Given the description of an element on the screen output the (x, y) to click on. 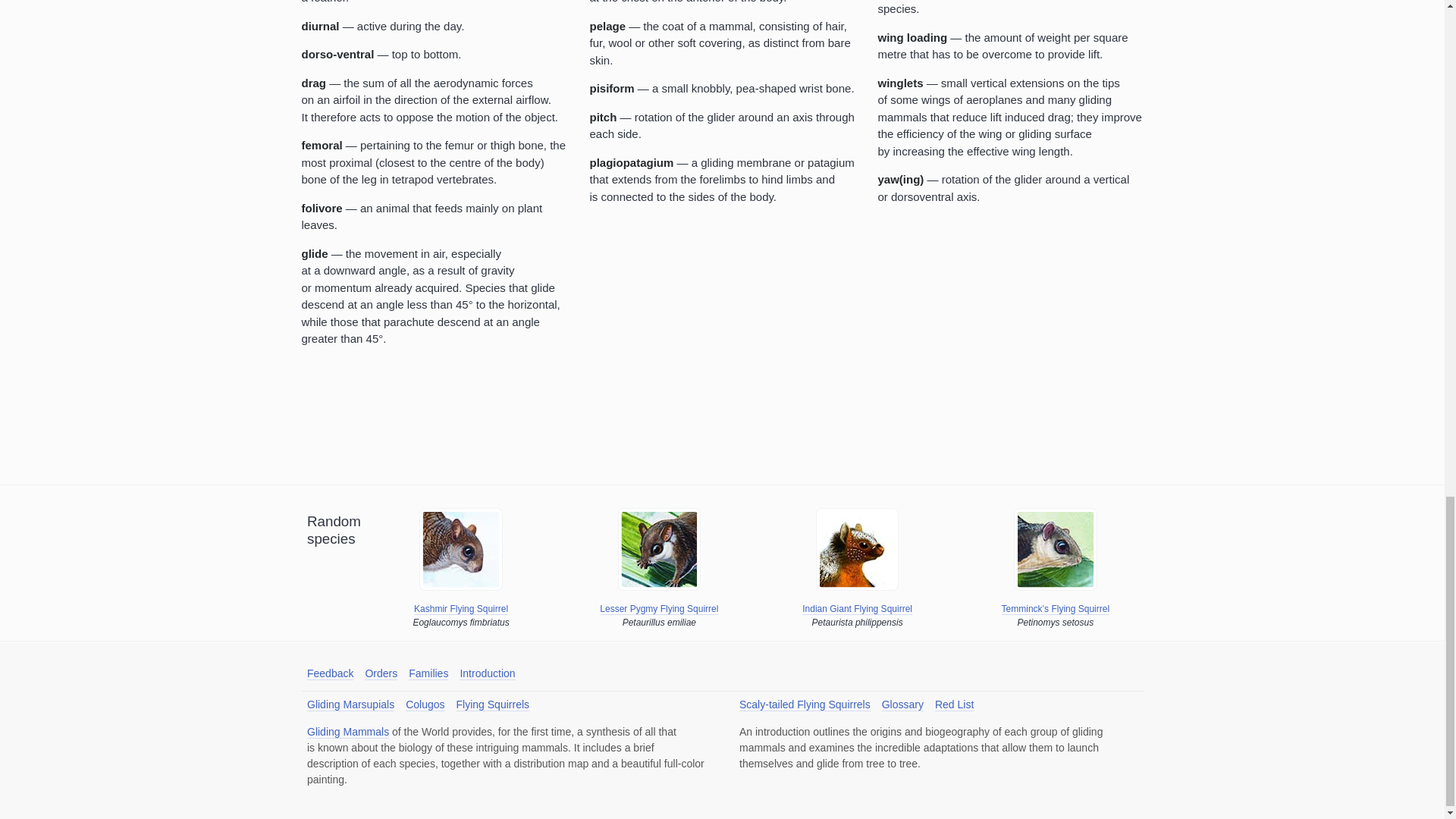
Introduction (487, 673)
Glossary (902, 704)
Flying Squirrels (493, 704)
Feedback (330, 673)
Red List (954, 704)
Orders (381, 673)
Gliding Mammals (347, 731)
Scaly-tailed Flying Squirrels (804, 704)
Lesser Pygmy Flying Squirrel (658, 609)
Gliding Marsupials (350, 704)
